Given the description of an element on the screen output the (x, y) to click on. 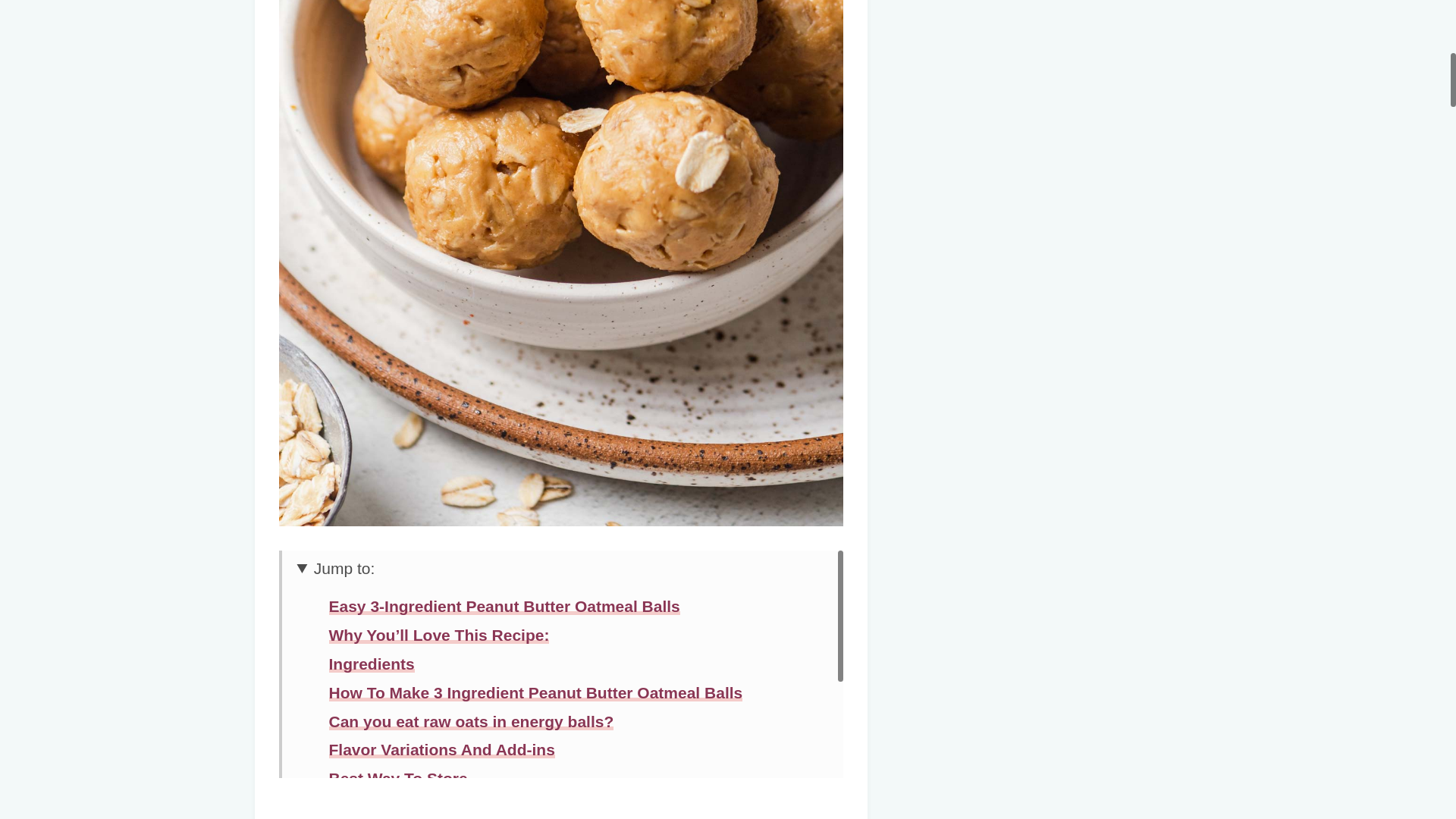
Can you eat raw oats in energy balls? (471, 721)
How To Make 3 Ingredient Peanut Butter Oatmeal Balls (535, 692)
Ingredients (371, 663)
Easy 3-Ingredient Peanut Butter Oatmeal Balls (504, 606)
Best Way To Store (398, 778)
Flavor Variations And Add-ins (441, 749)
Can you freeze oatmeal peanut butter energy balls? (524, 806)
